Given the description of an element on the screen output the (x, y) to click on. 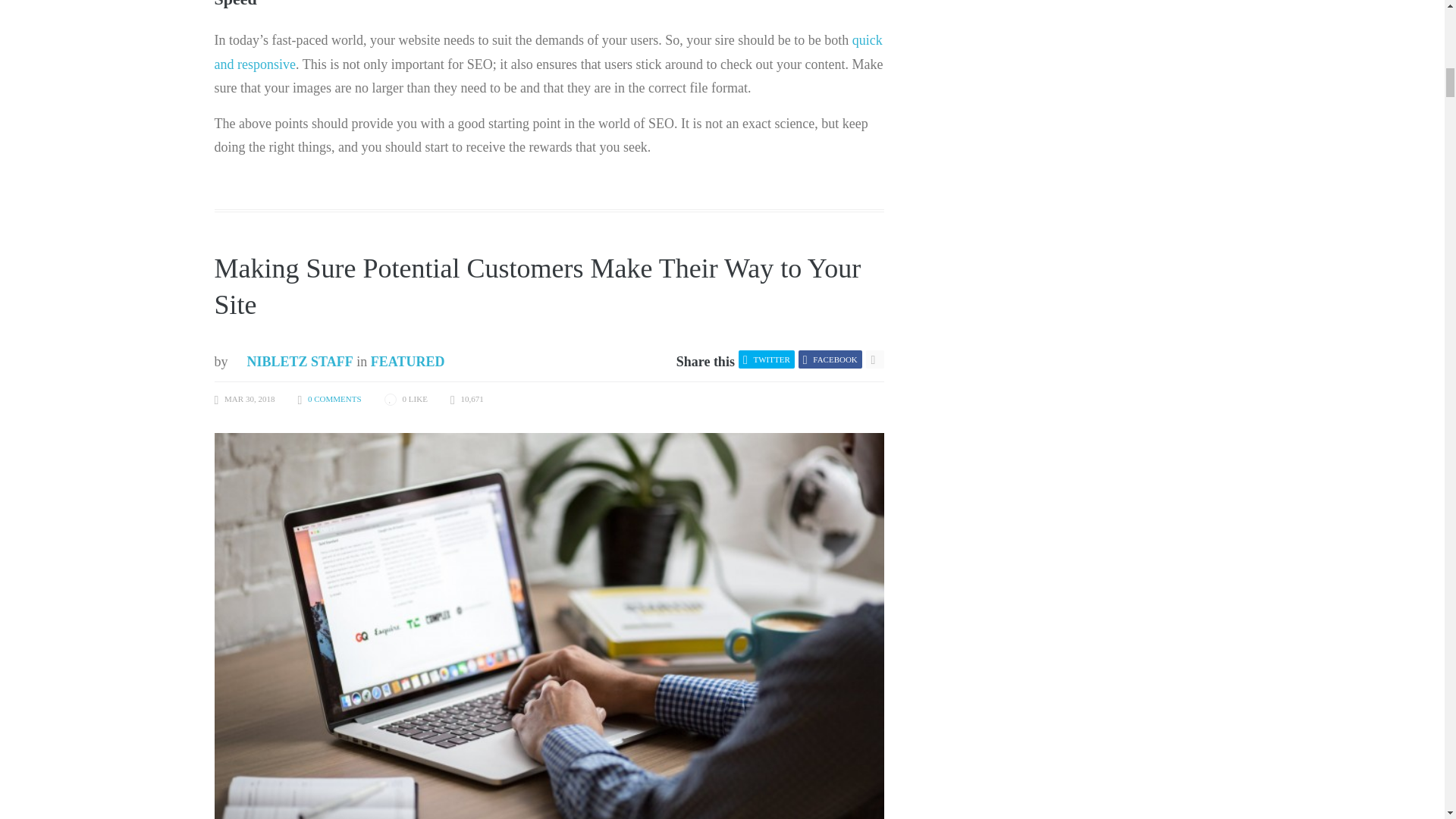
quick and responsive (548, 52)
FEATURED (408, 361)
0 COMMENTS (334, 398)
Making Sure Potential Customers Make Their Way to Your Site (537, 287)
NIBLETZ STAFF (292, 361)
